Given the description of an element on the screen output the (x, y) to click on. 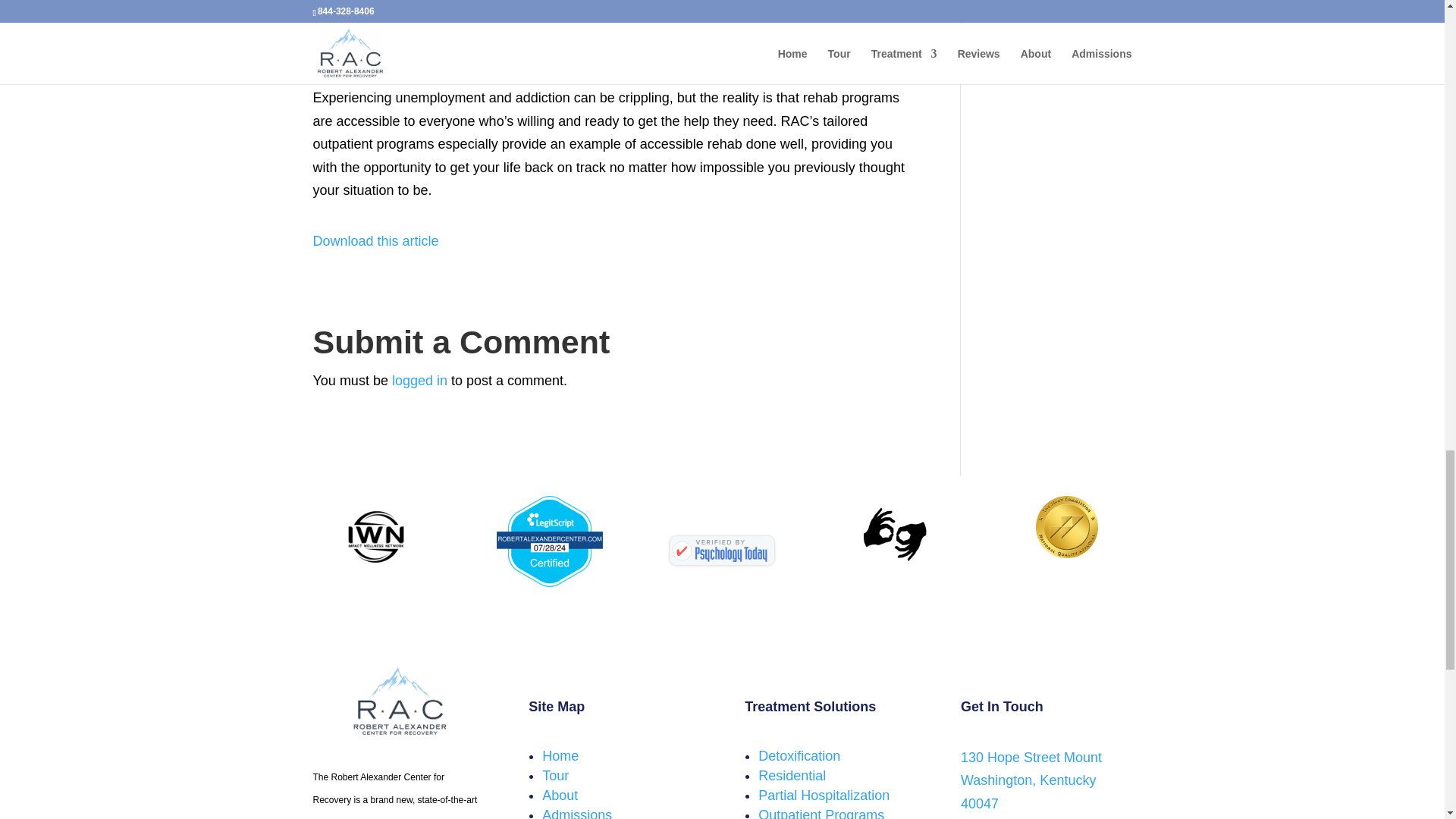
rac-interpreter (895, 534)
cropped-Iwn-square-logo (375, 537)
jcaho-new (1066, 526)
Download this article (375, 240)
logged in (418, 380)
Robert Alexander Center for Recovery (721, 550)
Verify LegitScript Approval (549, 581)
